Given the description of an element on the screen output the (x, y) to click on. 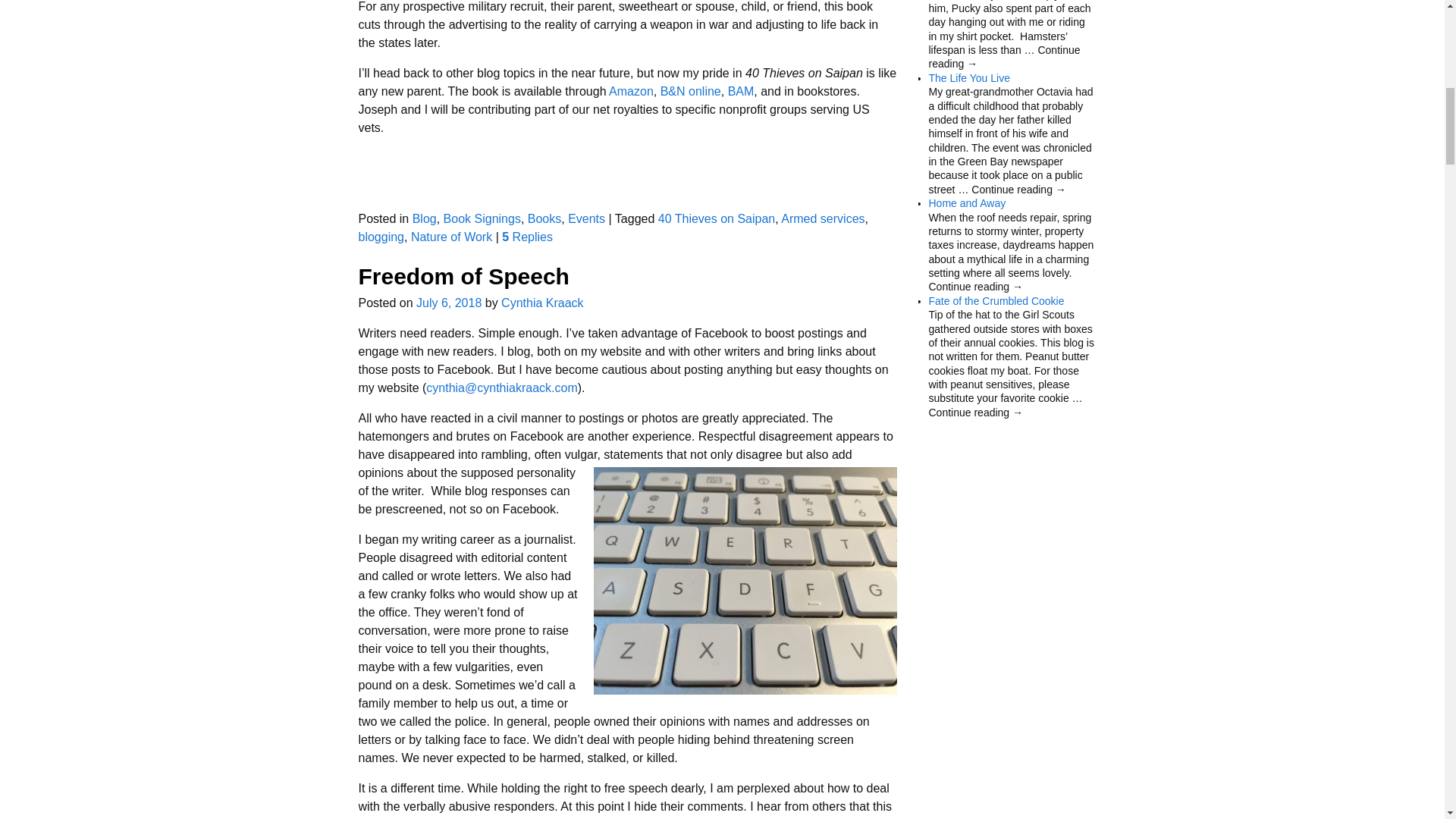
blogging (381, 236)
5 Replies (527, 236)
Blog (424, 218)
Freedom of Speech (463, 276)
Nature of Work (451, 236)
View all posts by Cynthia Kraack (541, 302)
Cynthia Kraack (541, 302)
Events (586, 218)
BAM (741, 91)
Book Signings (482, 218)
July 6, 2018 (448, 302)
Armed services (822, 218)
1:17 pm (448, 302)
Books (543, 218)
40 Thieves on Saipan (716, 218)
